Given the description of an element on the screen output the (x, y) to click on. 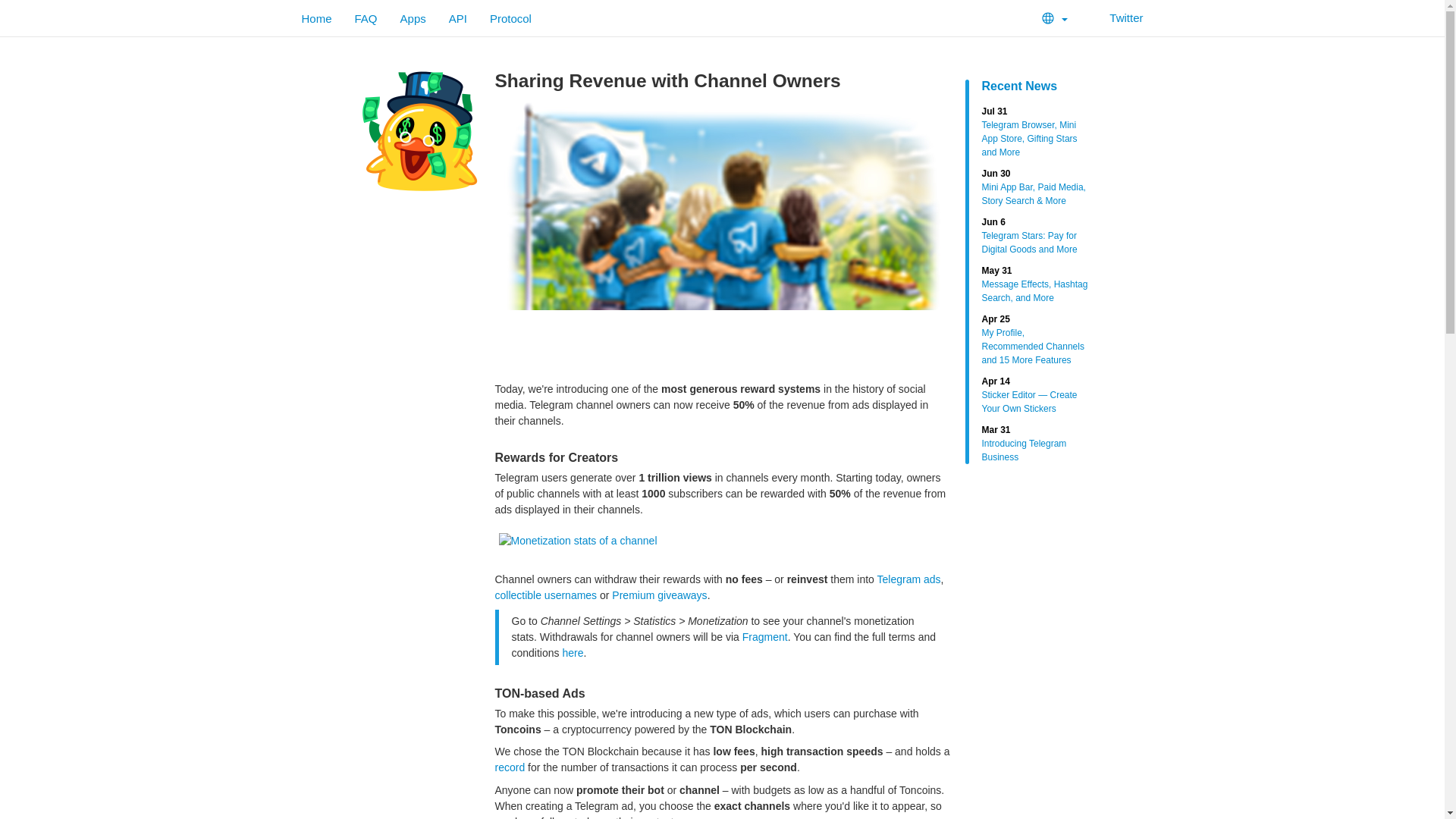
API (458, 18)
collectible usernames (1034, 339)
Apps (545, 594)
Recent News (413, 18)
Telegram ads (1034, 86)
Protocol (1034, 235)
Fragment (908, 579)
FAQ (511, 18)
Twitter (764, 636)
Home (1034, 283)
